Given the description of an element on the screen output the (x, y) to click on. 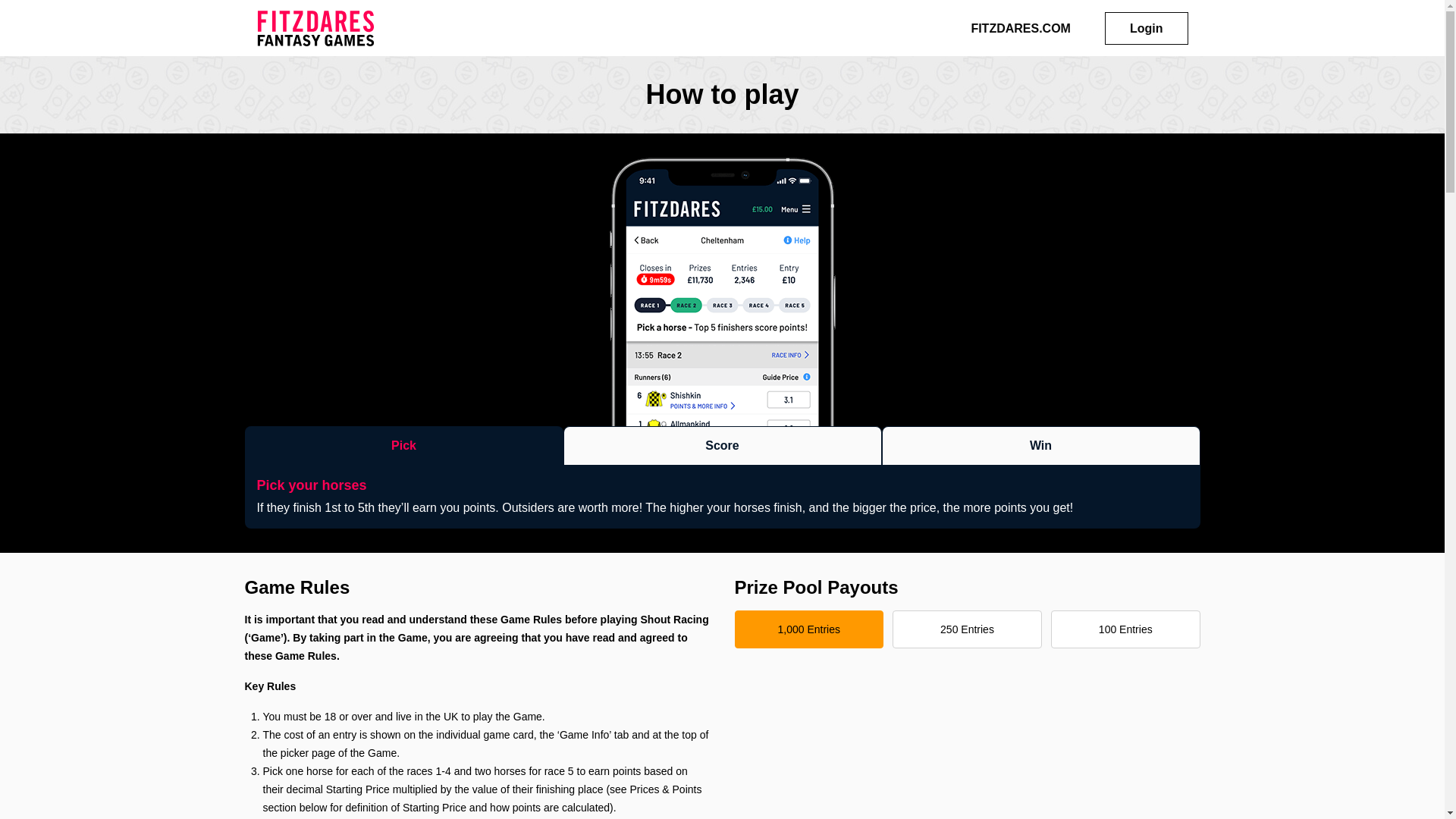
Login (1146, 28)
Pick (403, 445)
Win (1039, 445)
100 Entries (1125, 629)
Login (1146, 28)
FITZDARES.COM (1020, 27)
250 Entries (966, 629)
1,000 Entries (807, 629)
Score (721, 445)
